Given the description of an element on the screen output the (x, y) to click on. 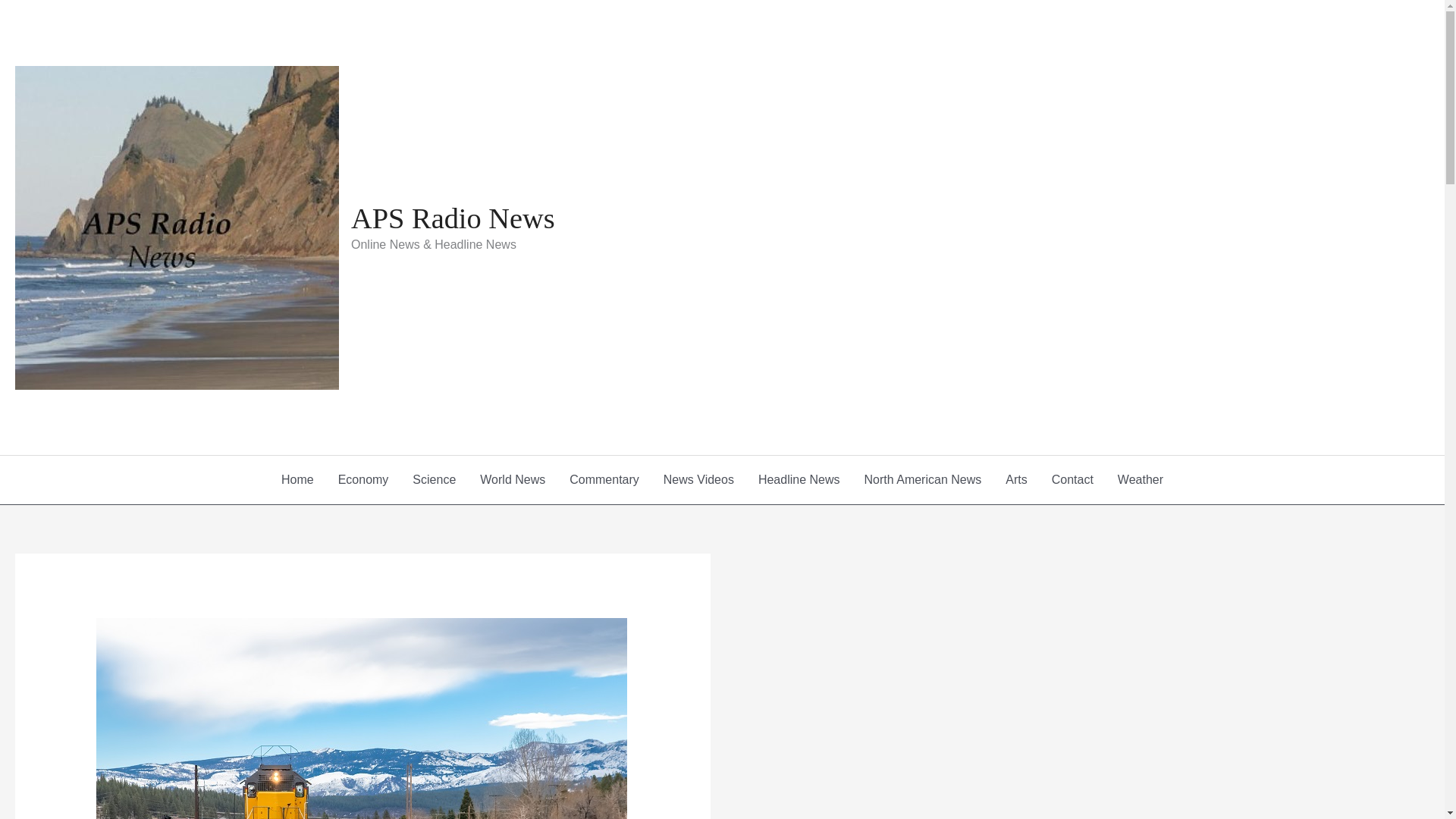
Weather (1139, 479)
Home (297, 479)
Contact (1072, 479)
Headline News (798, 479)
News Videos (697, 479)
APS Radio News (452, 218)
World News (512, 479)
North American News (922, 479)
Economy (363, 479)
Commentary (603, 479)
Arts (1015, 479)
Science (433, 479)
